Given the description of an element on the screen output the (x, y) to click on. 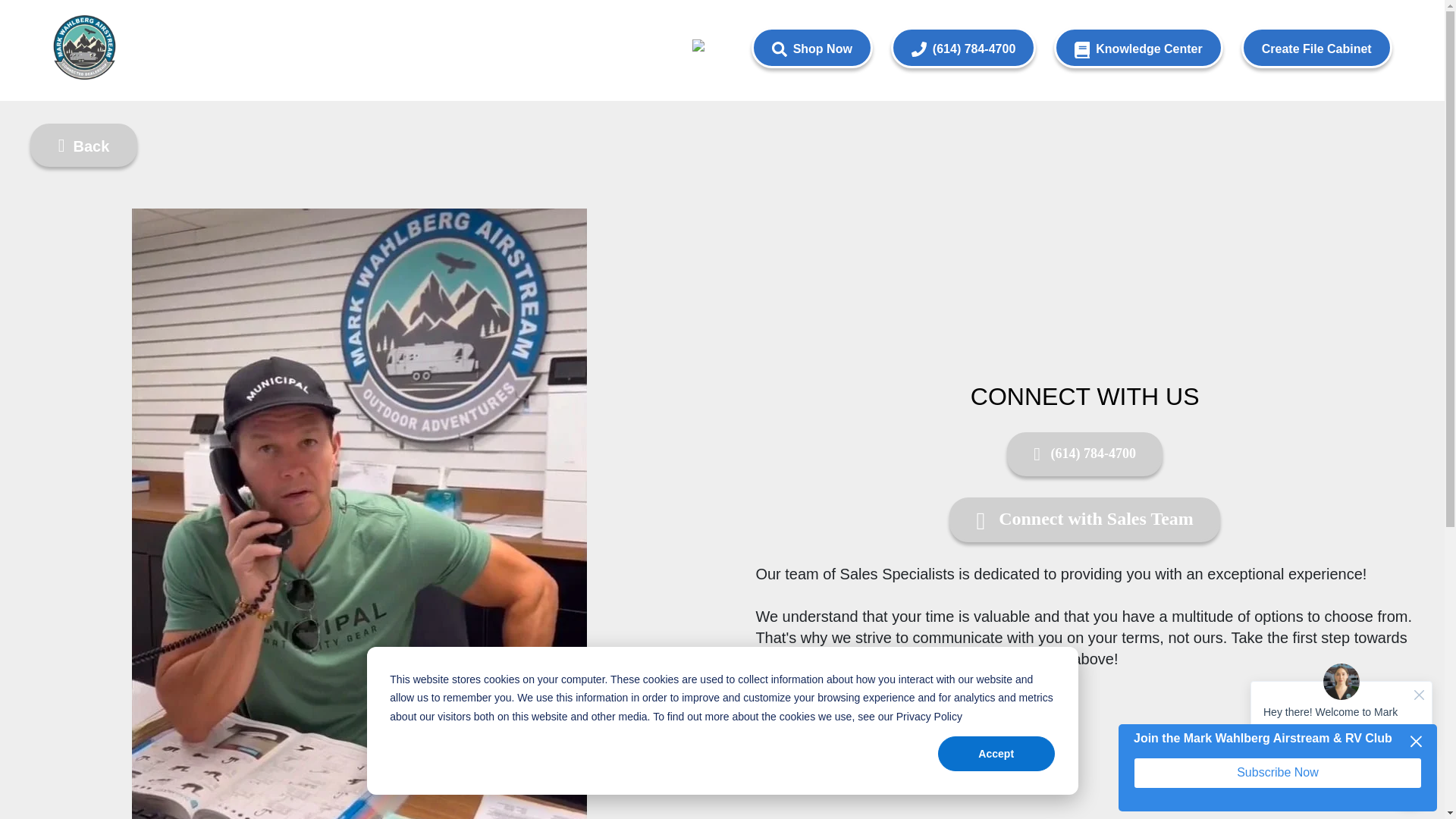
Shop Now (811, 47)
Knowledge Center (1138, 47)
  Back (83, 145)
   Connect with Sales Team (1084, 519)
Create File Cabinet (1316, 47)
Popup CTA (1277, 767)
   Connect with Sales Team (1084, 519)
  Back (83, 143)
